Given the description of an element on the screen output the (x, y) to click on. 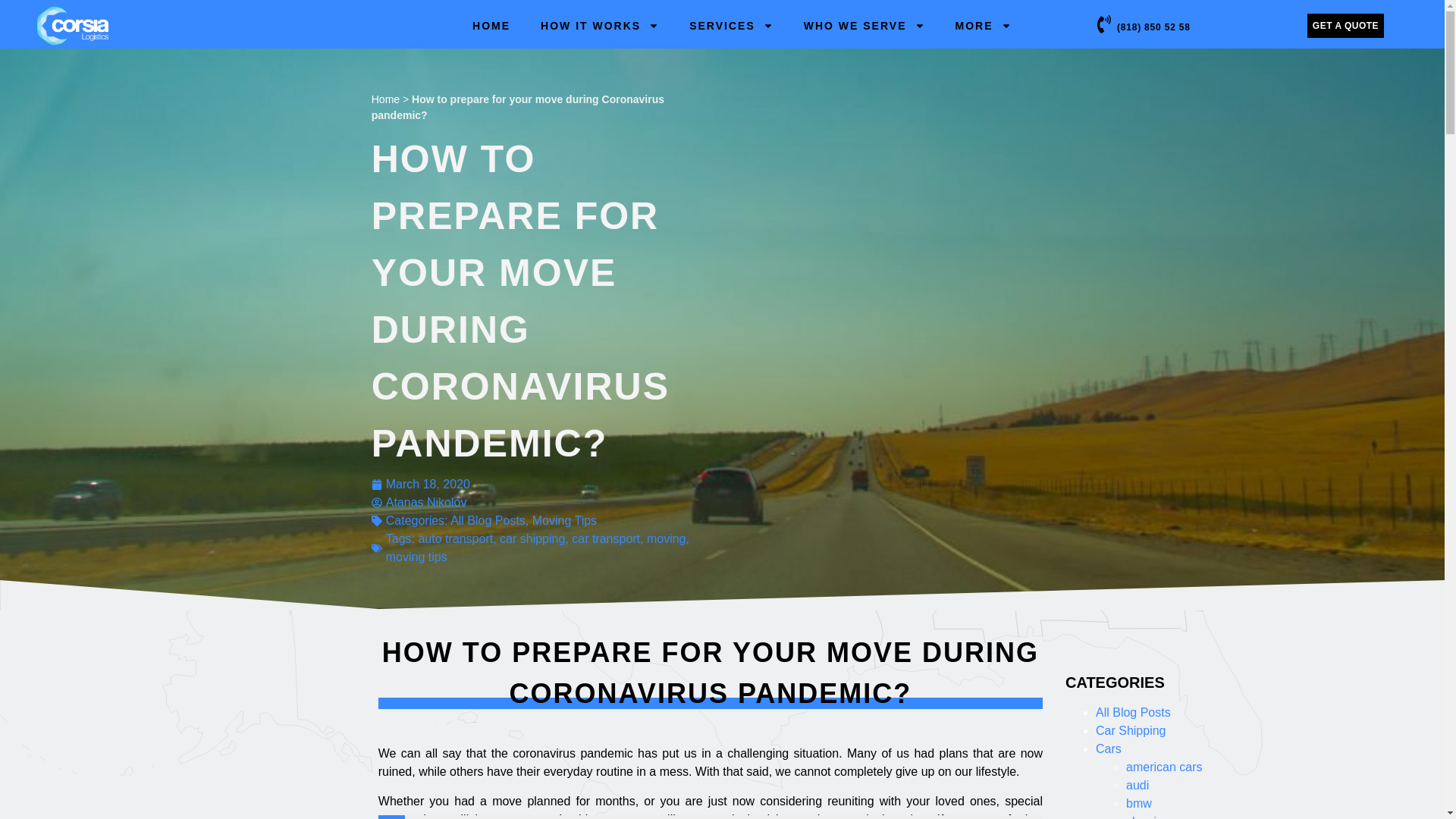
WHO WE SERVE (864, 26)
SERVICES (731, 26)
HOW IT WORKS (599, 26)
HOME (491, 26)
MORE (983, 26)
